Given the description of an element on the screen output the (x, y) to click on. 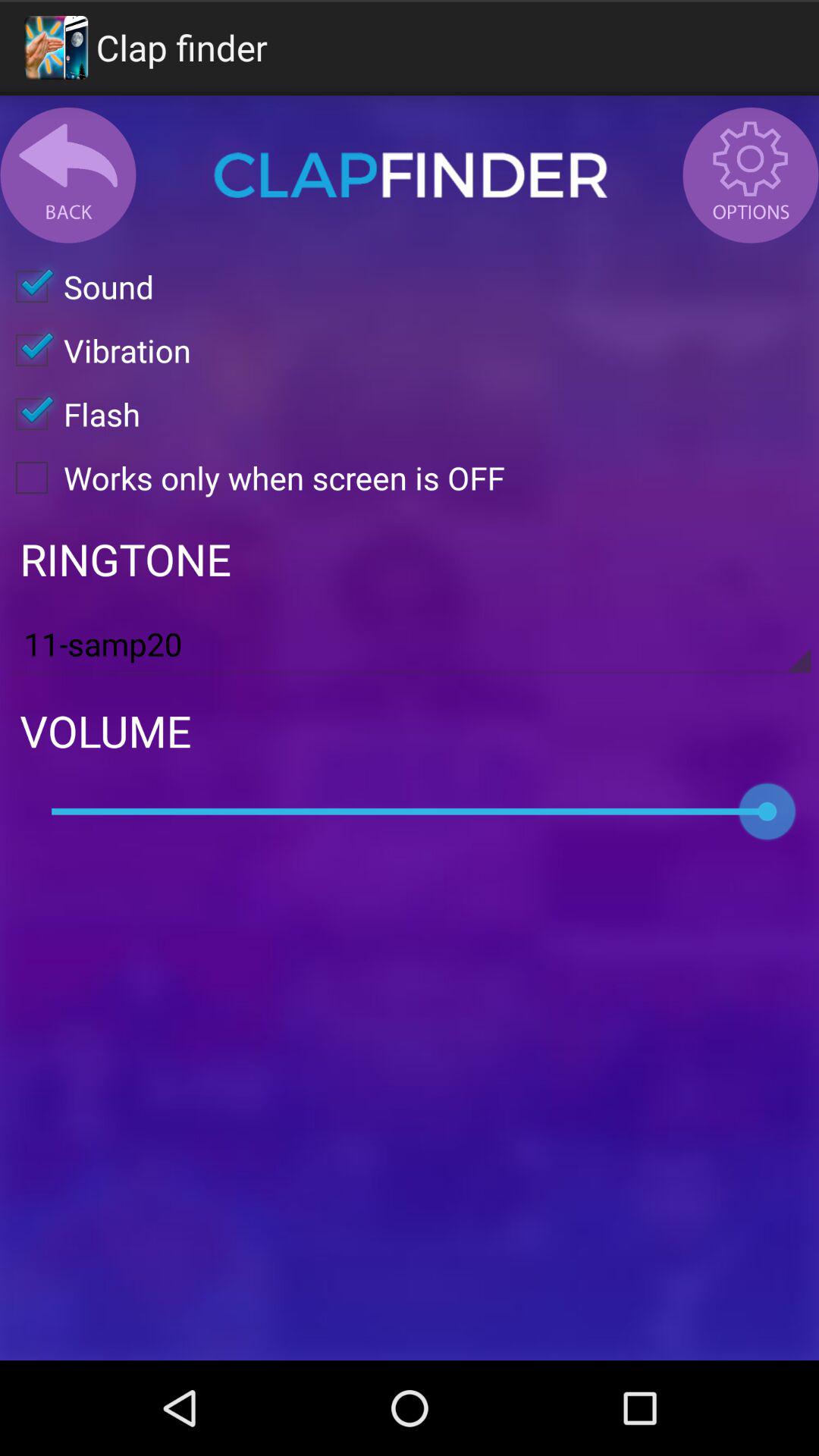
press checkbox below the vibration checkbox (70, 413)
